Given the description of an element on the screen output the (x, y) to click on. 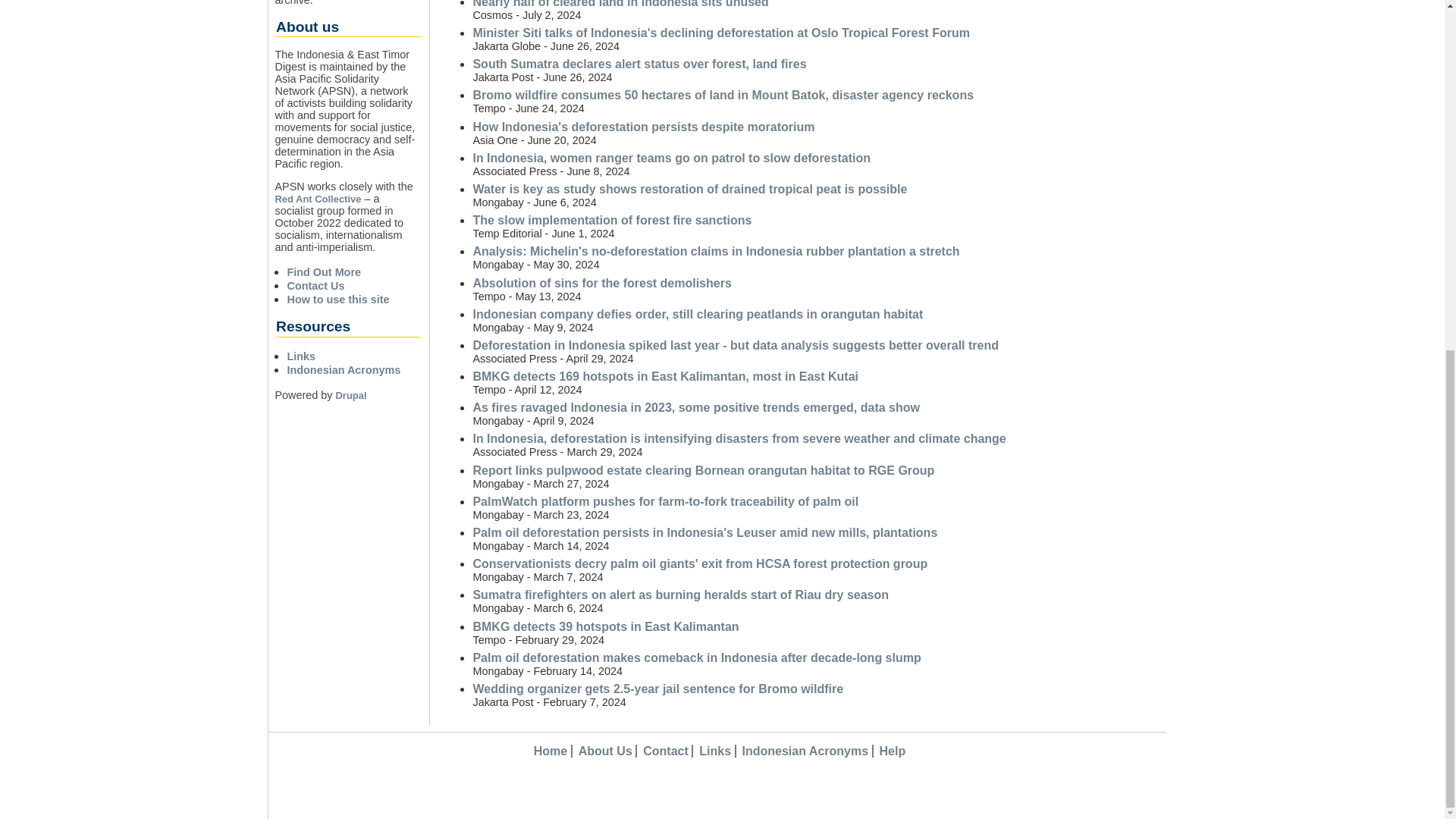
Absolution of sins for the forest demolishers (600, 282)
South Sumatra declares alert status over forest, land fires (638, 63)
BMKG detects 39 hotspots in East Kalimantan (604, 626)
